Given the description of an element on the screen output the (x, y) to click on. 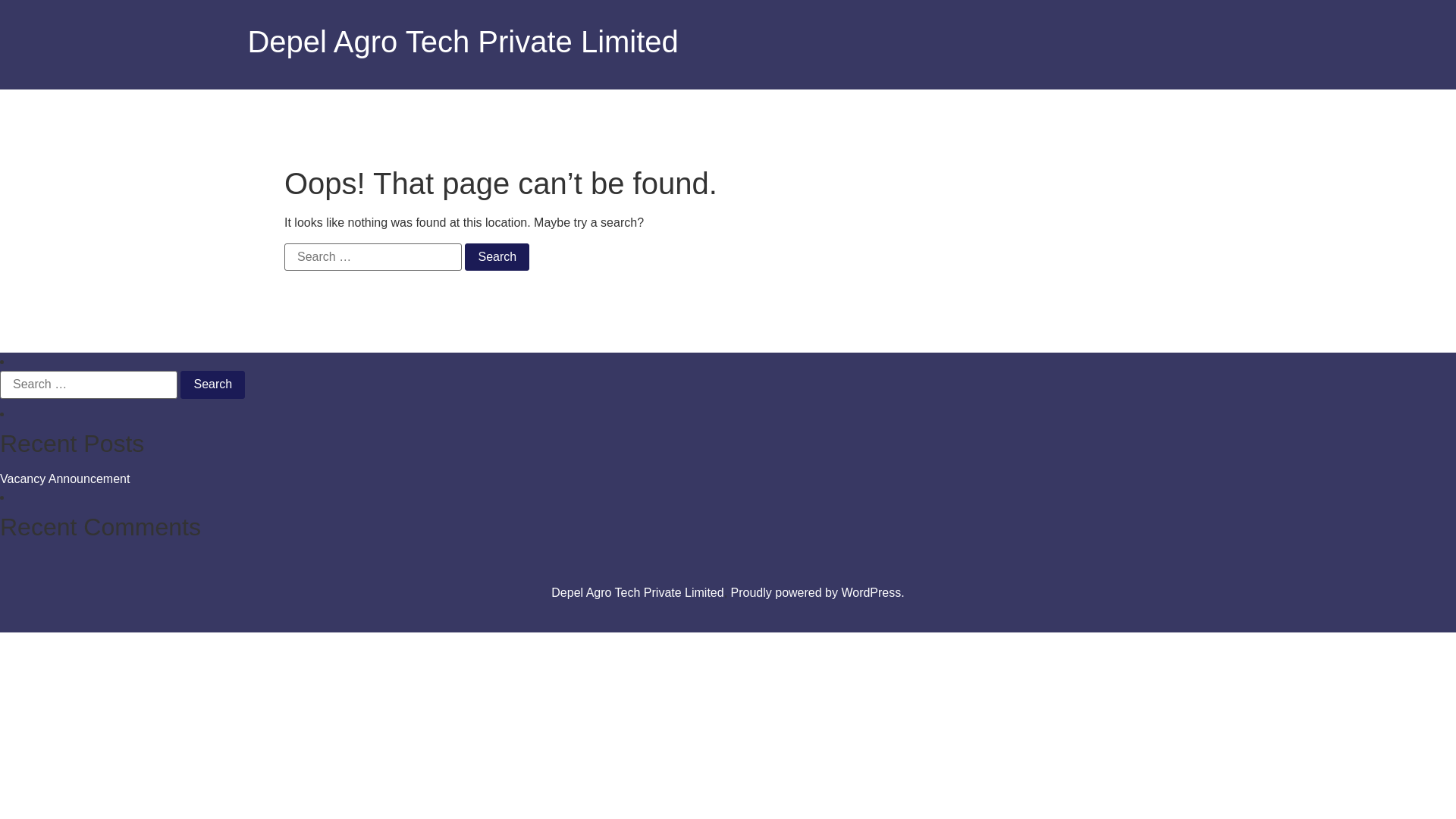
Search Element type: text (496, 256)
Proudly powered by WordPress. Element type: text (817, 592)
Depel Agro Tech Private Limited Element type: text (637, 592)
Vacancy Announcement Element type: text (64, 478)
Search Element type: text (212, 384)
Depel Agro Tech Private Limited Element type: text (462, 41)
